Given the description of an element on the screen output the (x, y) to click on. 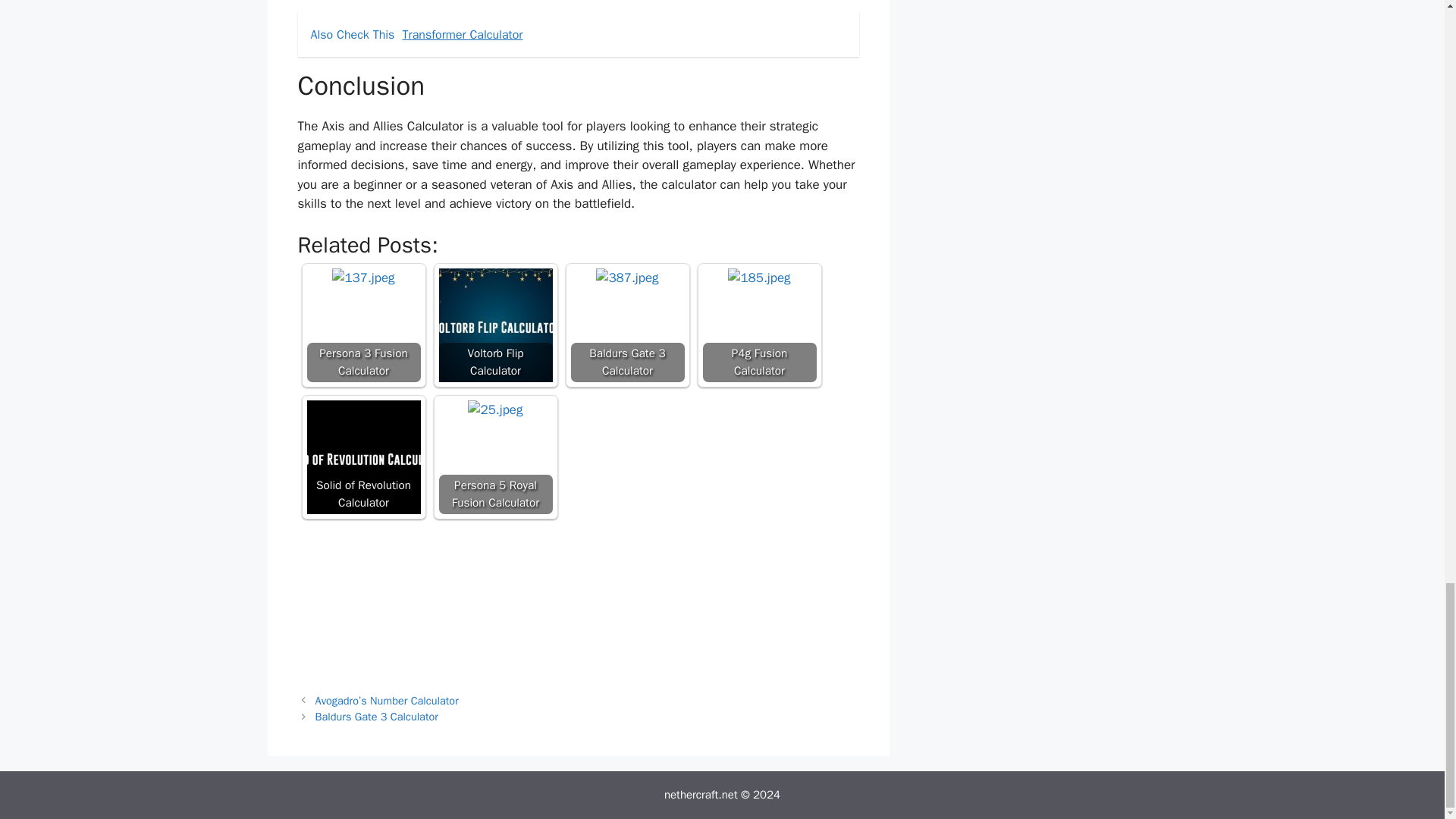
Solid of Revolution Calculator (362, 457)
Solid of Revolution Calculator (362, 457)
Baldurs Gate 3 Calculator (376, 716)
Persona 5 Royal Fusion Calculator (494, 457)
Baldurs Gate 3 Calculator (627, 325)
Persona 3 Fusion Calculator (362, 325)
P4g Fusion Calculator (758, 325)
Voltorb Flip Calculator (494, 325)
Persona 5 Royal Fusion Calculator (494, 410)
Persona 3 Fusion Calculator (362, 278)
